Given the description of an element on the screen output the (x, y) to click on. 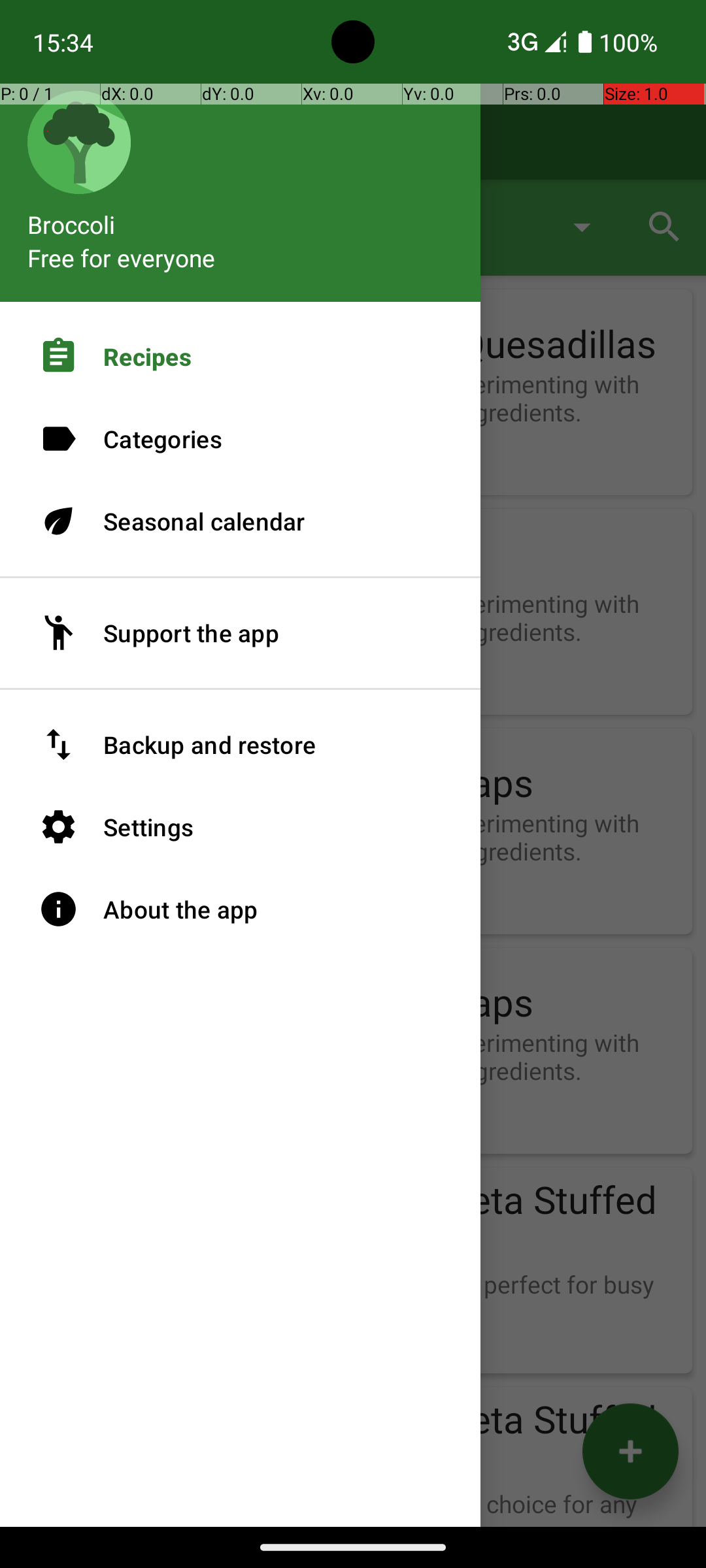
Free for everyone Element type: android.widget.TextView (121, 257)
Seasonal calendar Element type: android.widget.CheckedTextView (239, 521)
Support the app Element type: android.widget.CheckedTextView (239, 632)
Backup and restore Element type: android.widget.CheckedTextView (239, 744)
About the app Element type: android.widget.CheckedTextView (239, 909)
